Given the description of an element on the screen output the (x, y) to click on. 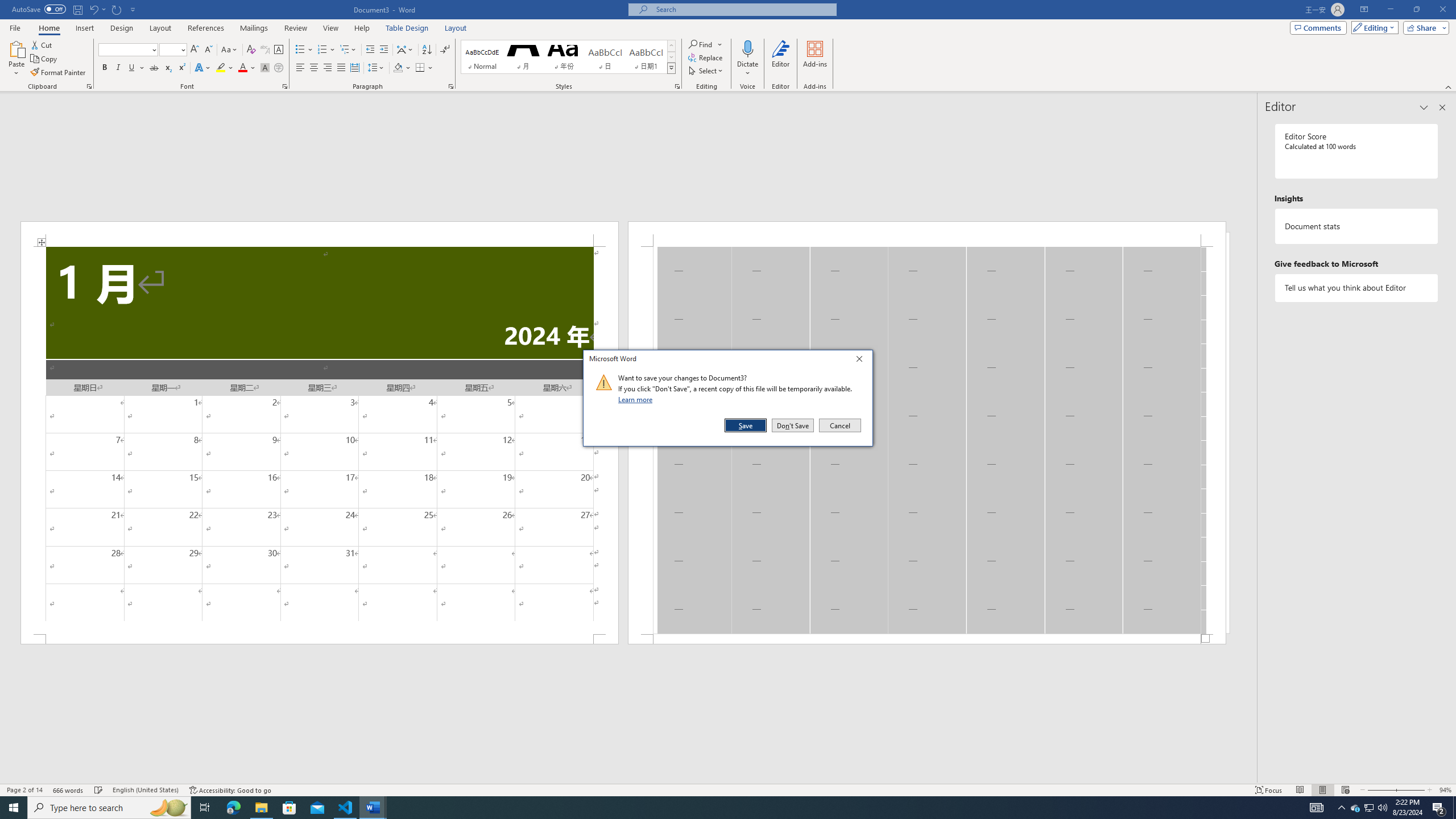
Paragraph... (450, 85)
Visual Studio Code - 1 running window (345, 807)
Font Color RGB(255, 0, 0) (241, 67)
Borders (424, 67)
Notification Chevron (1341, 807)
Character Shading (264, 67)
Superscript (180, 67)
Subscript (167, 67)
Search highlights icon opens search home window (167, 807)
Collapse the Ribbon (1448, 86)
